Given the description of an element on the screen output the (x, y) to click on. 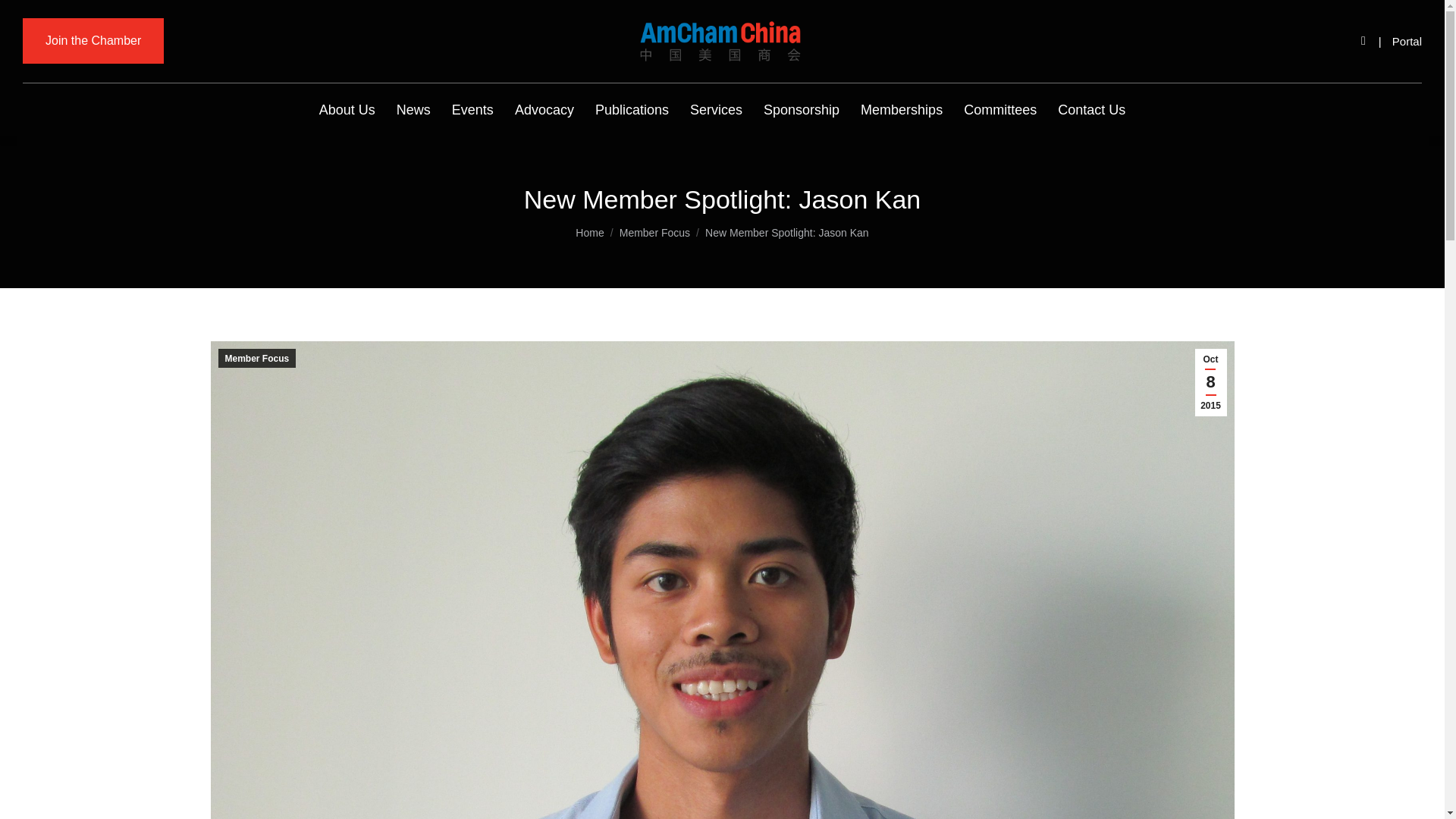
Go! (24, 16)
Member Focus (655, 232)
Advocacy (544, 109)
News (413, 109)
Home (589, 232)
Join the Chamber (93, 40)
Events (472, 109)
About Us (346, 109)
Portal (1406, 41)
